Given the description of an element on the screen output the (x, y) to click on. 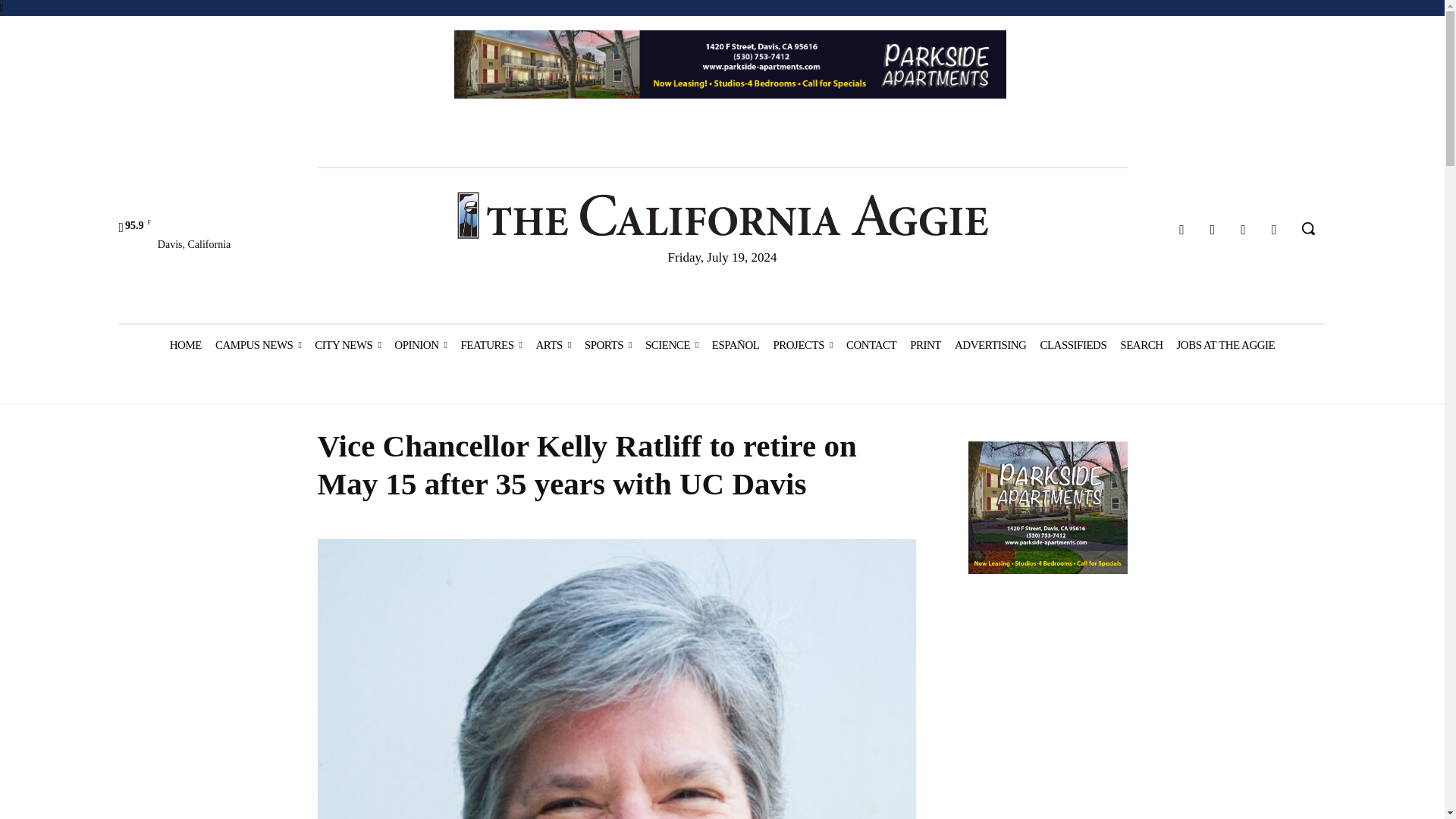
Instagram (1212, 229)
Twitter (1243, 229)
Youtube (1273, 229)
HOME (185, 345)
Facebook (1181, 229)
CAMPUS NEWS (257, 345)
